Given the description of an element on the screen output the (x, y) to click on. 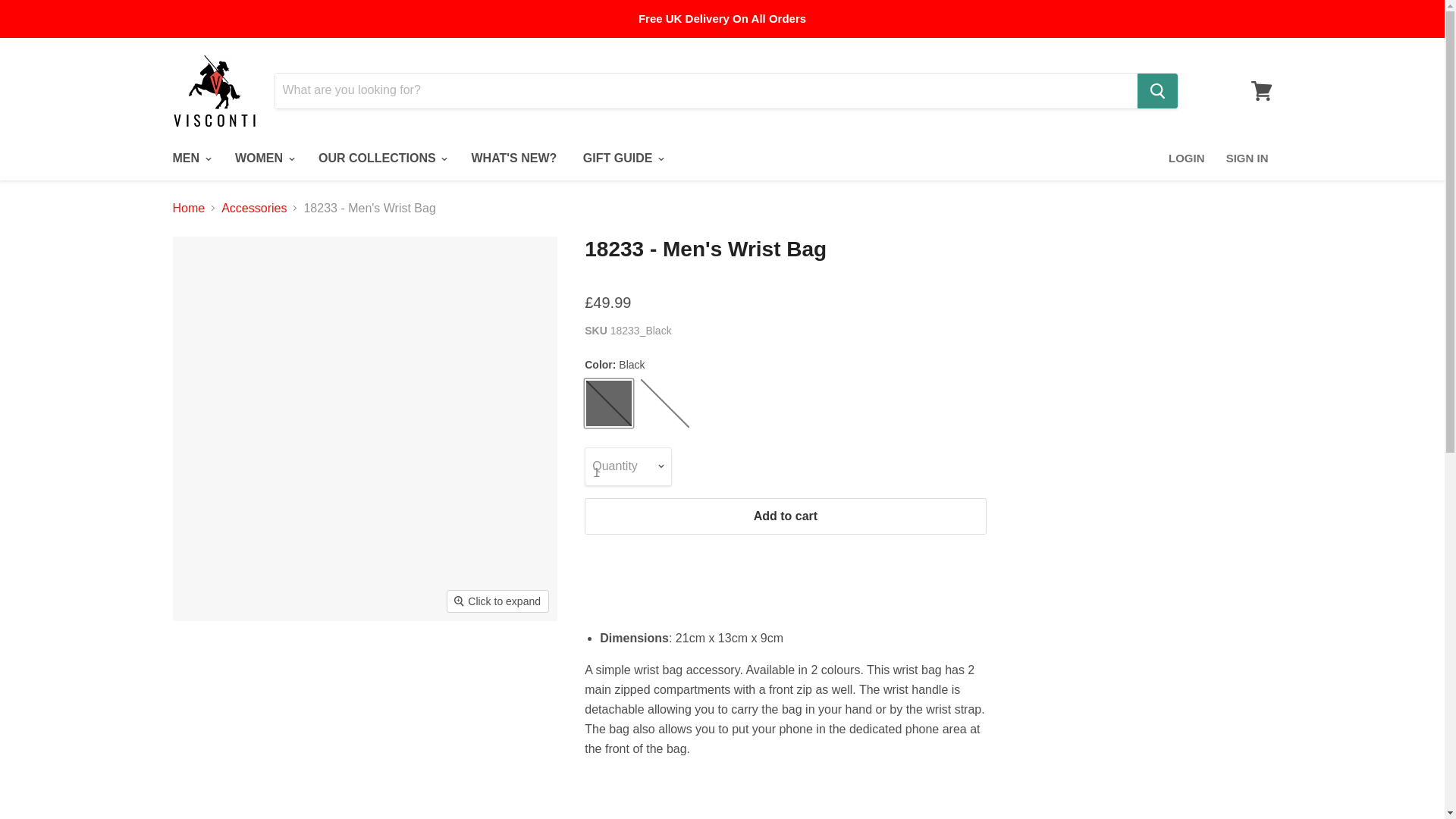
MEN (189, 158)
View cart (1261, 89)
